Given the description of an element on the screen output the (x, y) to click on. 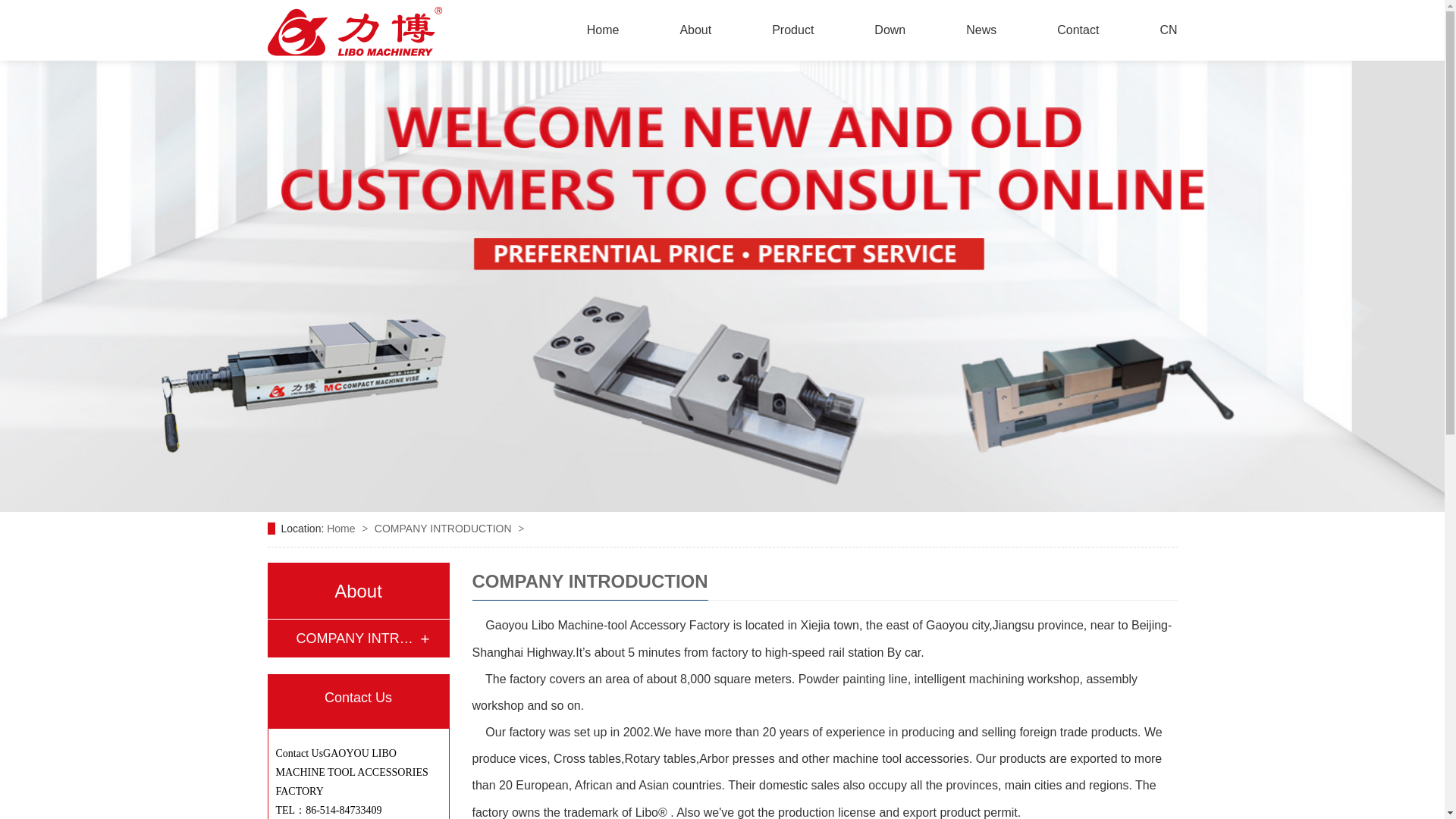
COMPANY INTRODUCTION (444, 528)
Home (342, 528)
COMPANY INTRODUCTION (357, 638)
COMPANY INTRODUCTION (357, 638)
